Given the description of an element on the screen output the (x, y) to click on. 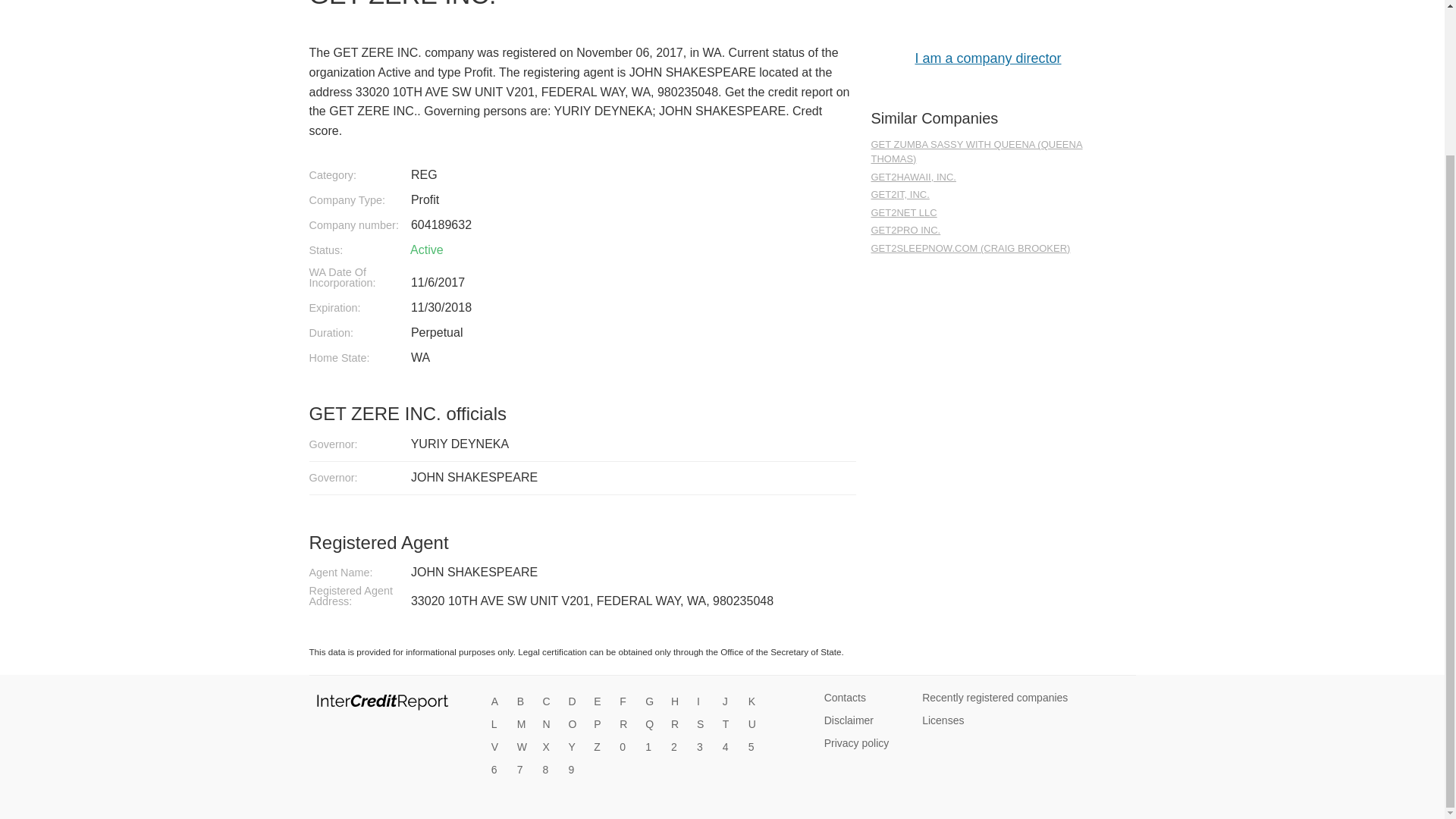
Q (653, 724)
B (524, 702)
3 (704, 747)
W (524, 747)
R (678, 724)
P (601, 724)
GET2NET LLC (987, 213)
I (704, 702)
I am a company director (986, 57)
J (730, 702)
